Given the description of an element on the screen output the (x, y) to click on. 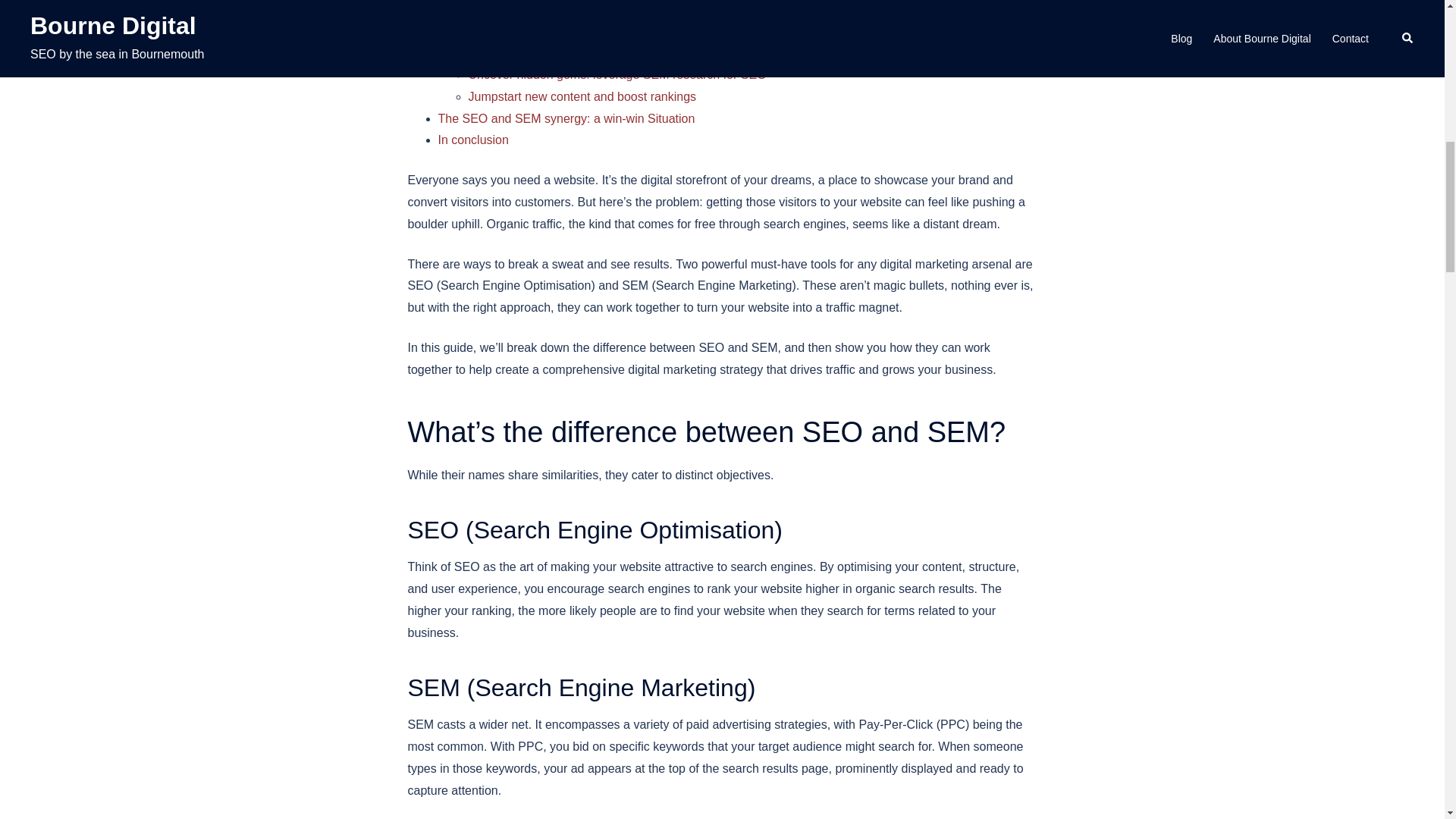
Uncover hidden gems: leverage SEM research for SEO (617, 74)
In conclusion (473, 139)
SEM: paying for prominent placement (569, 30)
Jumpstart new content and boost rankings (582, 96)
The SEO and SEM synergy: a win-win Situation (566, 118)
